Given the description of an element on the screen output the (x, y) to click on. 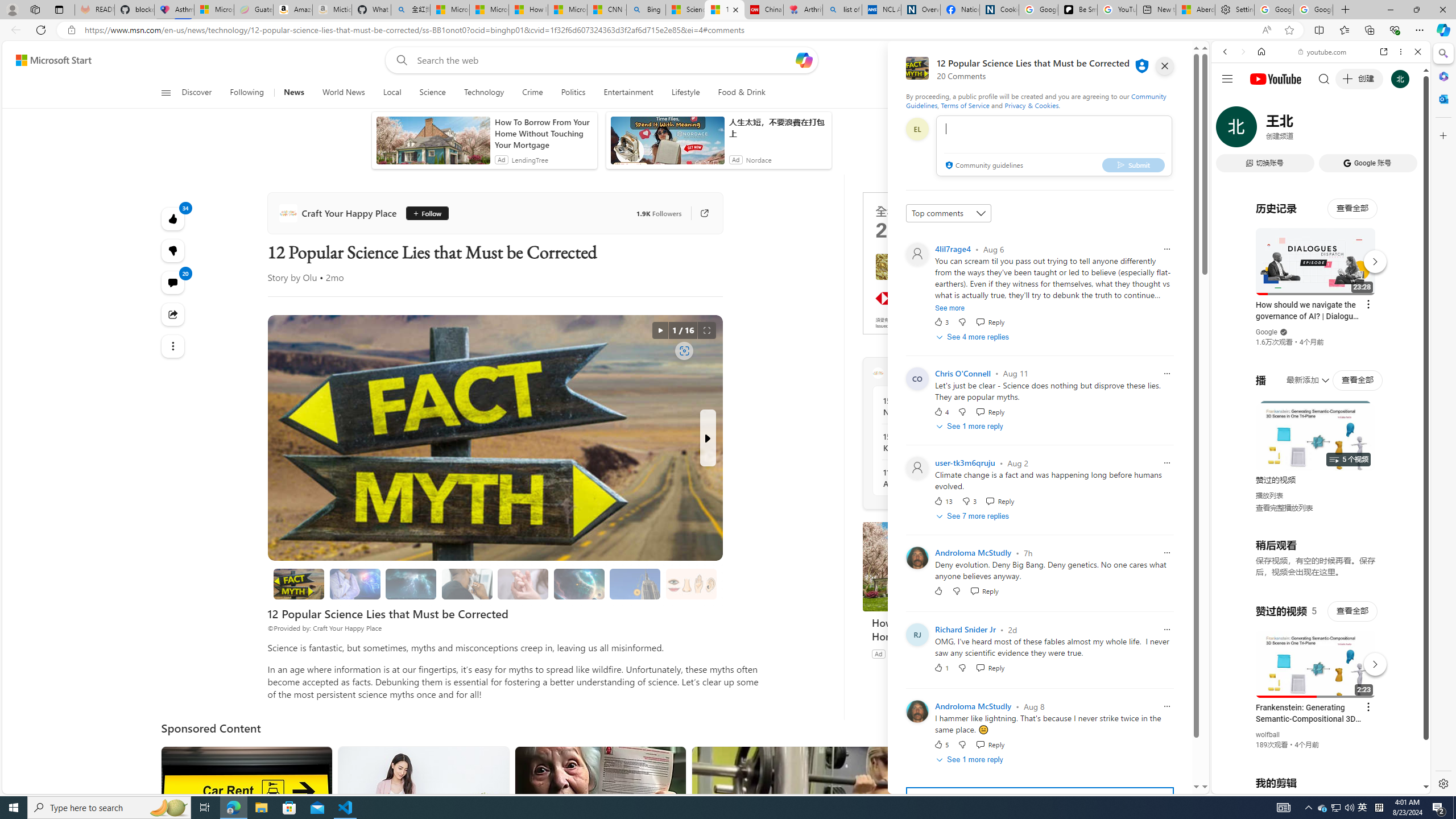
Community guidelines (983, 165)
Terms of Service (965, 104)
Sort comments by (948, 212)
